Given the description of an element on the screen output the (x, y) to click on. 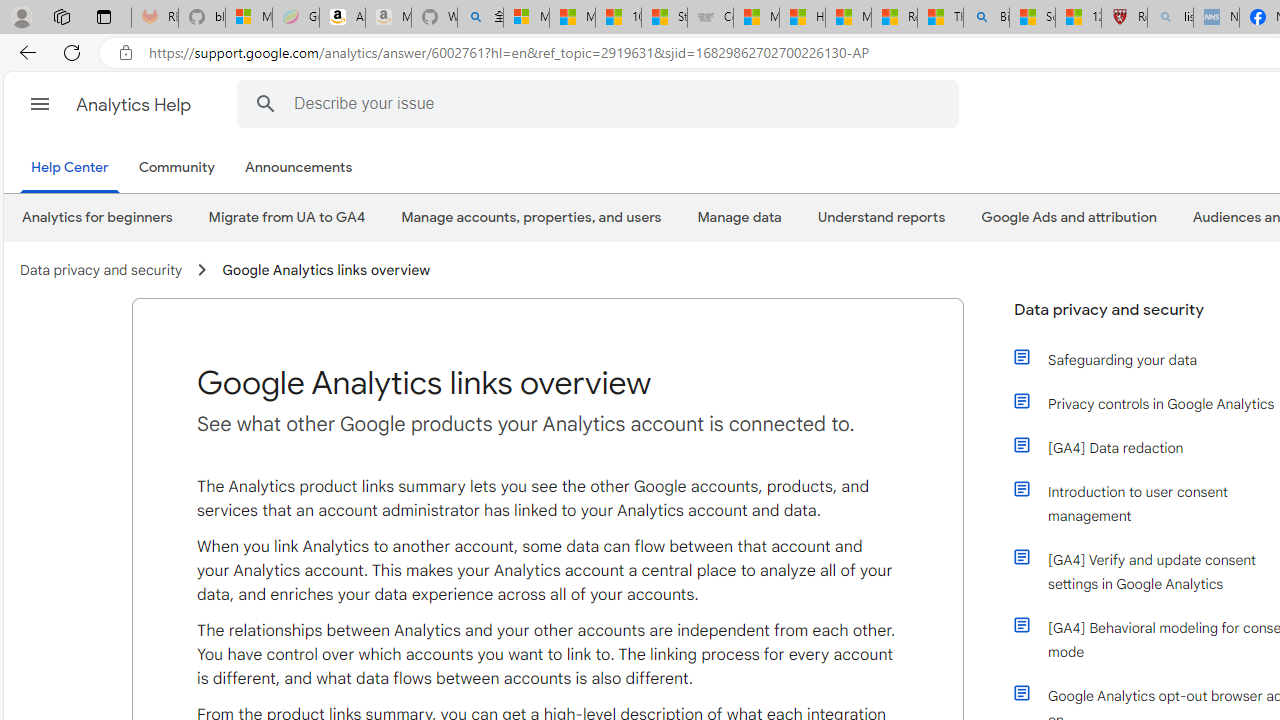
Describe your issue (600, 103)
Announcements (303, 168)
Recipes - MSN (893, 17)
Manage accounts, properties, and users (530, 217)
Help Center (70, 168)
Bing (985, 17)
Manage data (739, 217)
Community (176, 168)
Class: article (1021, 692)
Community (180, 168)
